Given the description of an element on the screen output the (x, y) to click on. 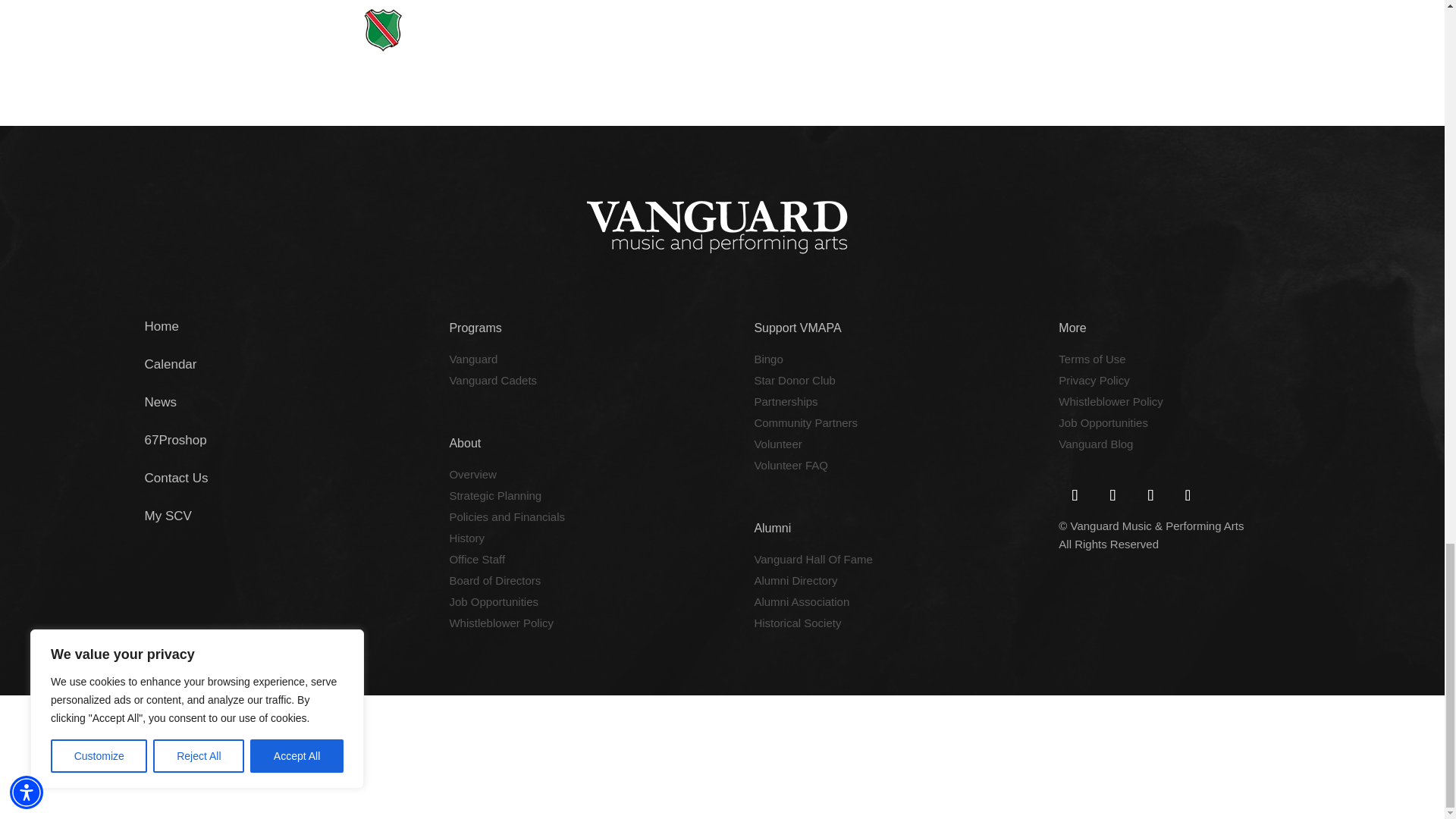
Follow on Instagram (1187, 494)
Follow on X (1112, 495)
Follow on Youtube (1150, 495)
Follow on Facebook (1074, 495)
